Given the description of an element on the screen output the (x, y) to click on. 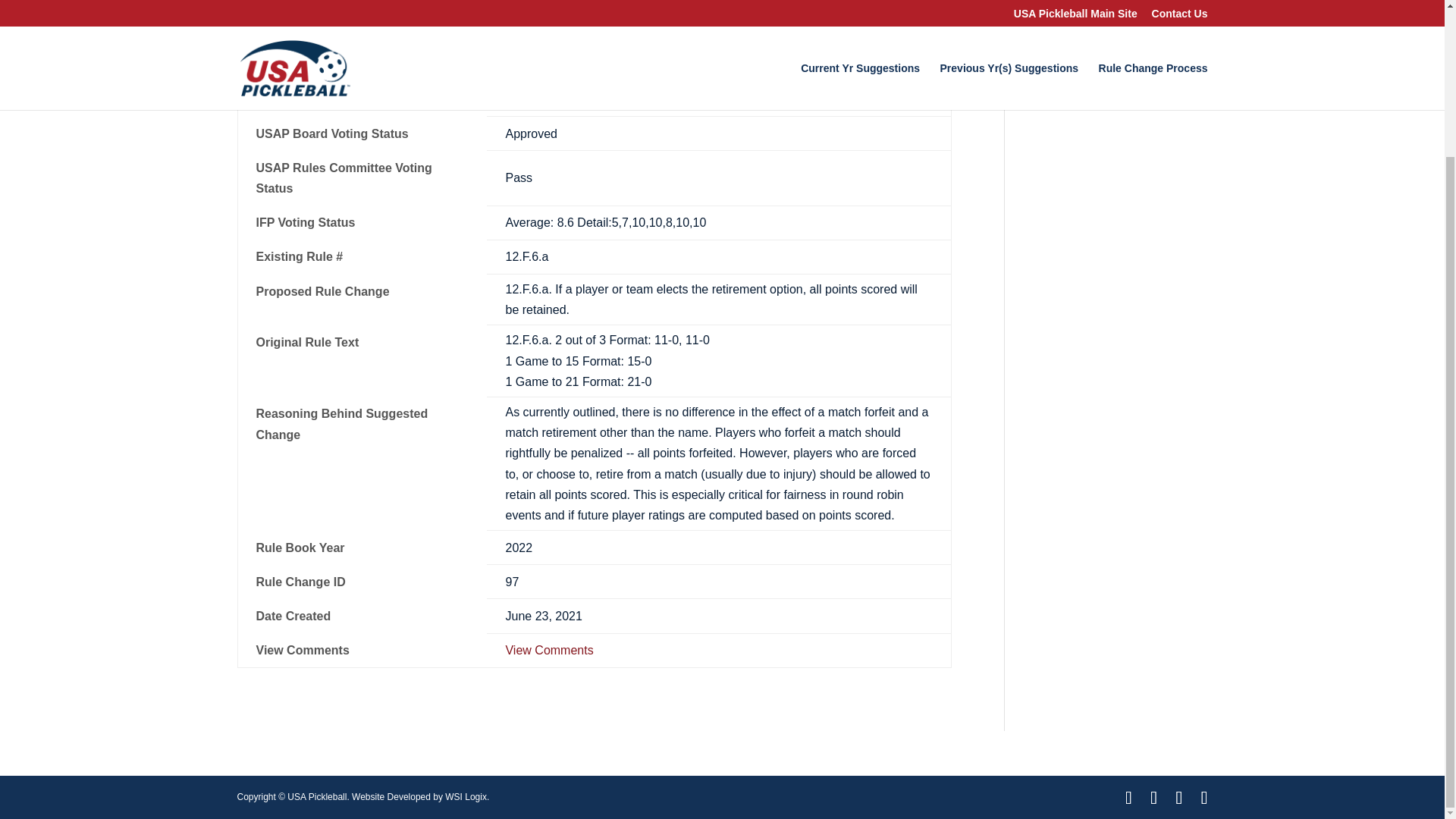
Rule Change Process (588, 752)
Posts by usap-rules (274, 10)
Search (1182, 0)
usap-rules (274, 10)
View Comments (548, 649)
Search (1182, 0)
Current Yr Suggestions (295, 752)
